Given the description of an element on the screen output the (x, y) to click on. 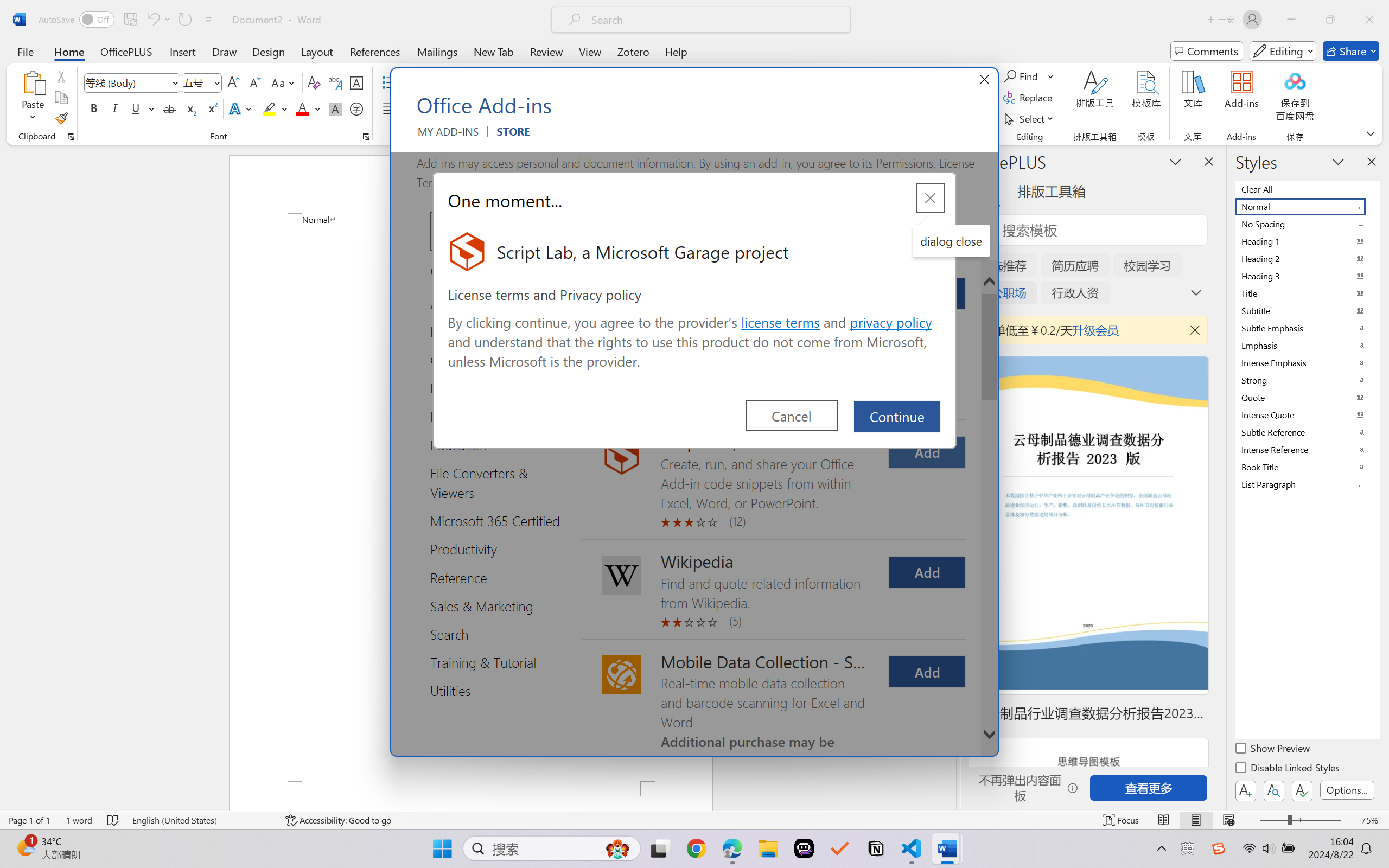
Minimize (1291, 19)
Phonetic Guide... (334, 82)
Class: MsoCommandBar (694, 819)
Language English (United States) (201, 819)
Font Size (201, 82)
Customize Quick Access Toolbar (208, 19)
Zotero (632, 51)
Undo Apply Quick Style (152, 19)
Quote (1306, 397)
Shrink Font (253, 82)
Open (215, 82)
Underline (142, 108)
File Tab (24, 51)
